Given the description of an element on the screen output the (x, y) to click on. 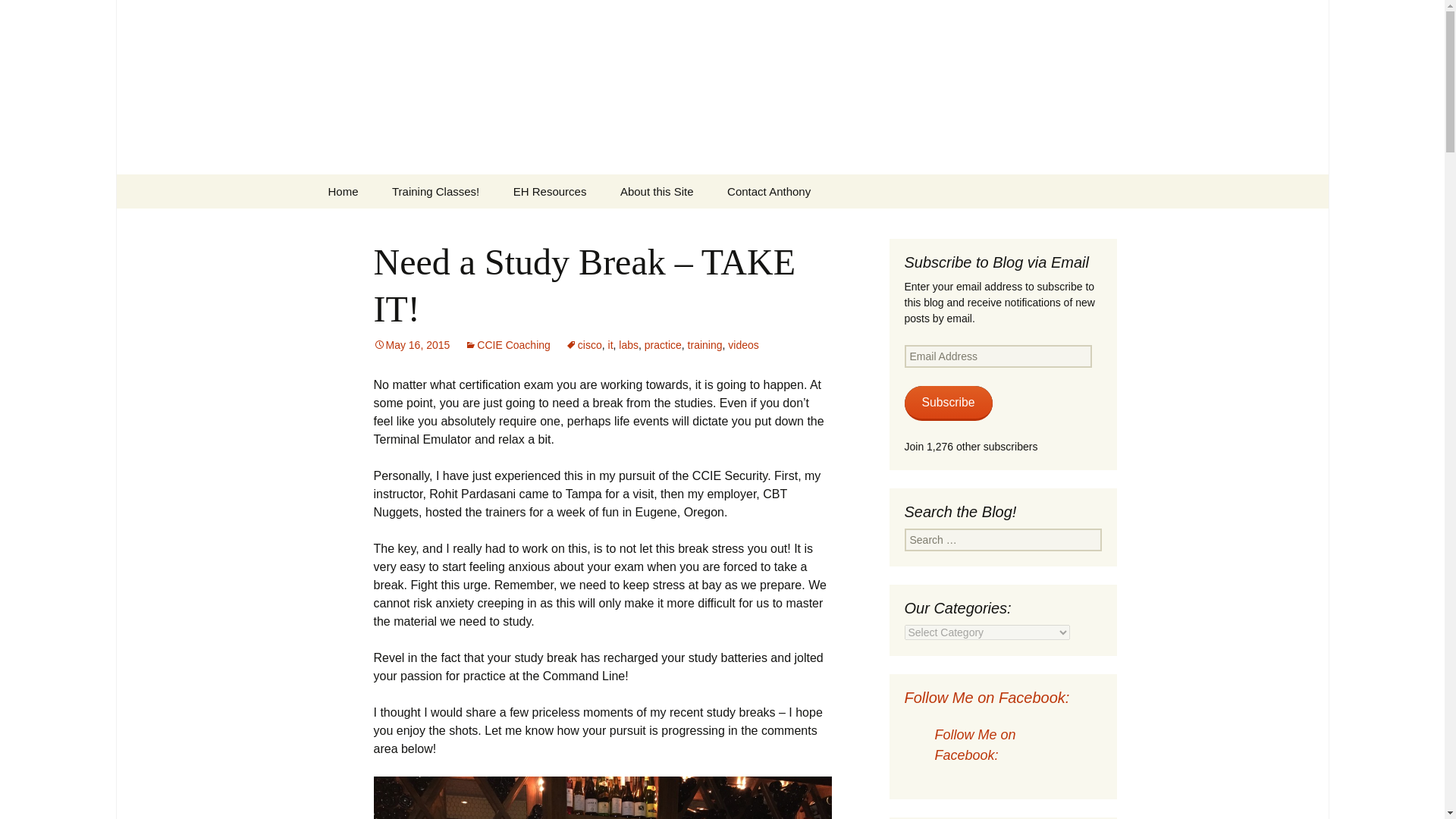
CCIE Coaching (507, 345)
cisco (584, 345)
About this Site (657, 191)
May 16, 2015 (410, 345)
labs (628, 345)
Contact Anthony (768, 191)
training (704, 345)
videos (743, 345)
Ethical Hacking Additional Resources (549, 191)
